Given the description of an element on the screen output the (x, y) to click on. 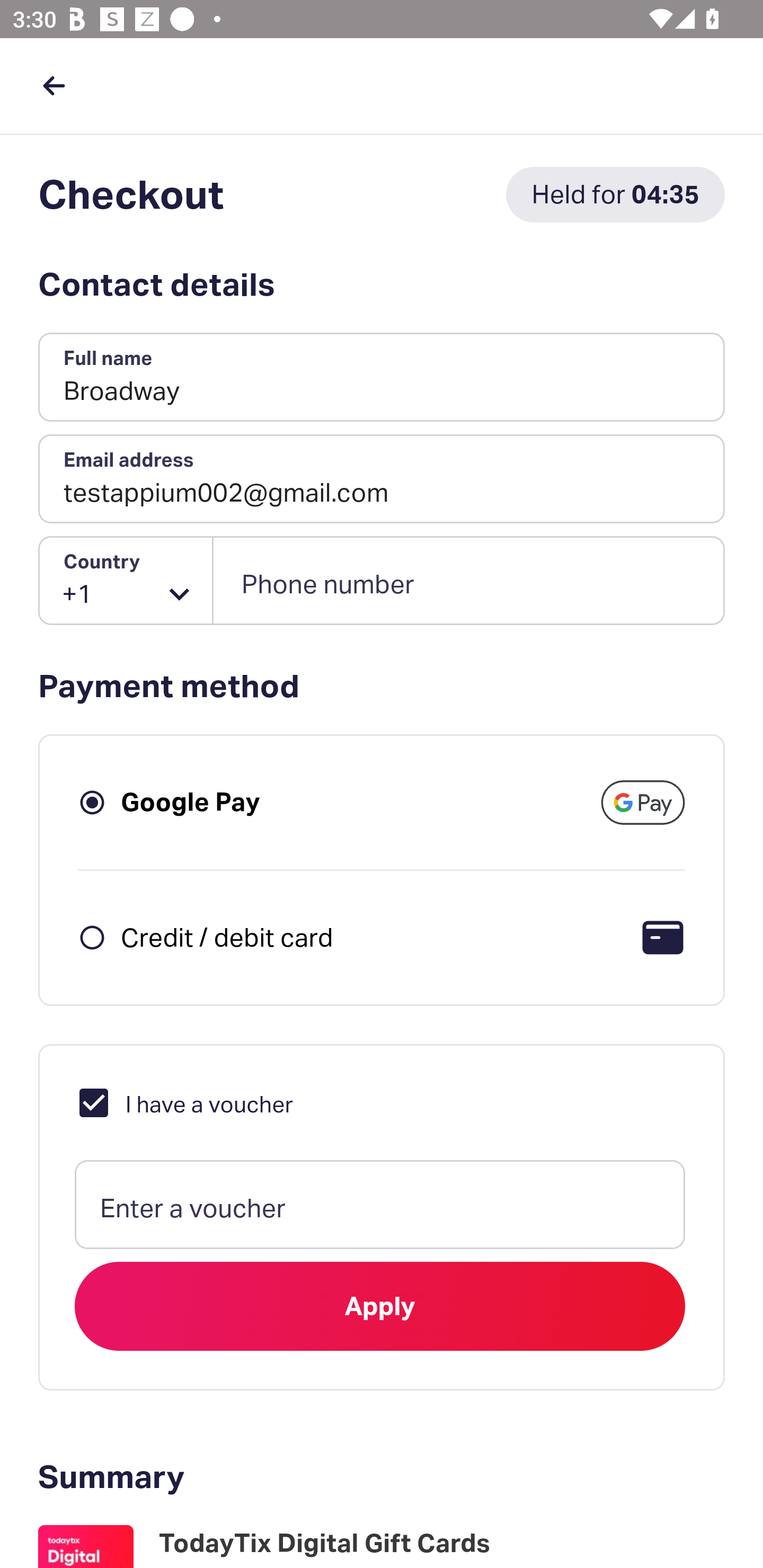
back button (53, 85)
Broadway (381, 377)
testappium002@gmail.com (381, 478)
  +1 (126, 580)
Google Pay (190, 802)
Credit / debit card (227, 936)
I have a voucher (183, 1101)
